Given the description of an element on the screen output the (x, y) to click on. 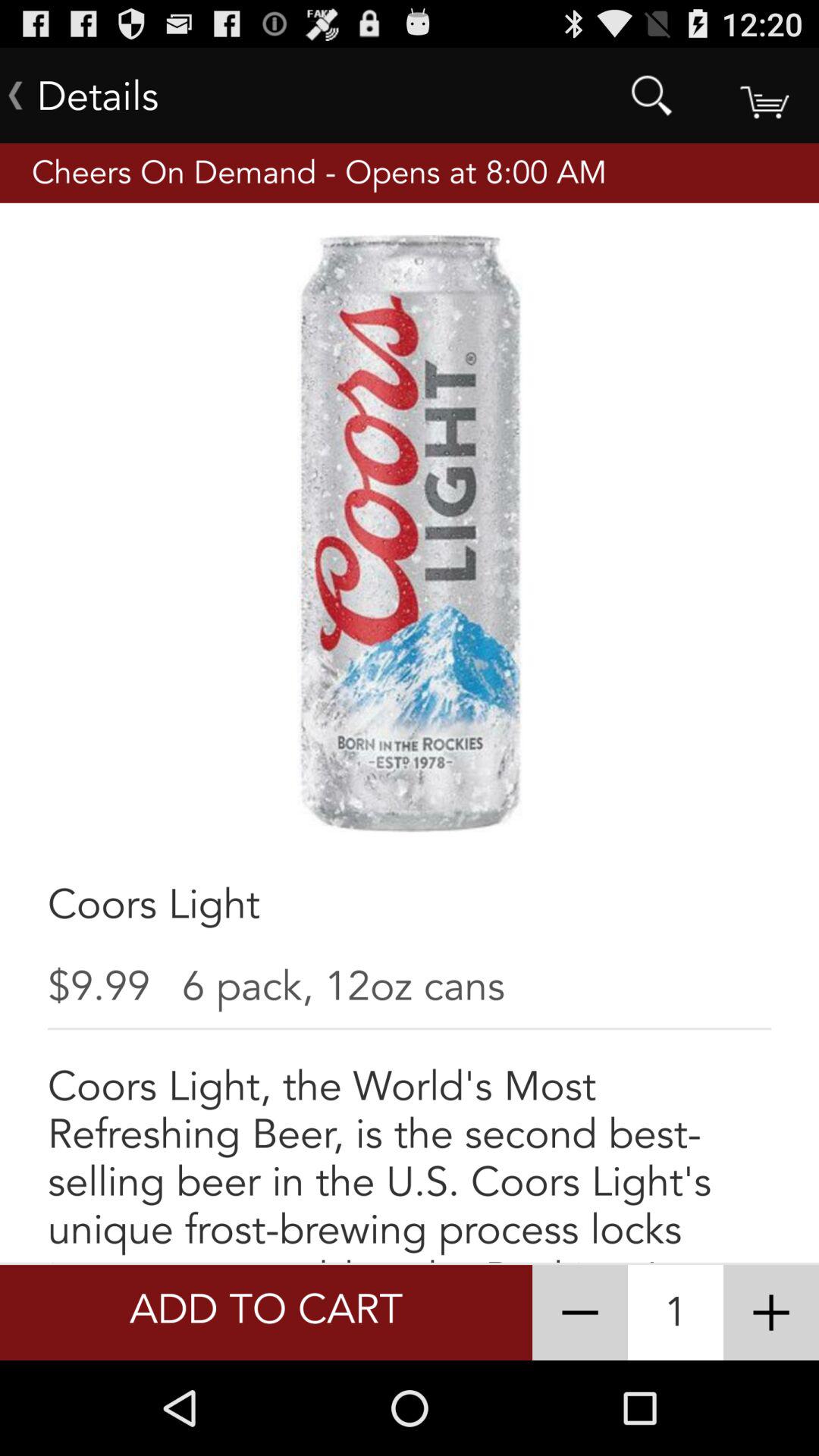
go to basket (763, 95)
